Given the description of an element on the screen output the (x, y) to click on. 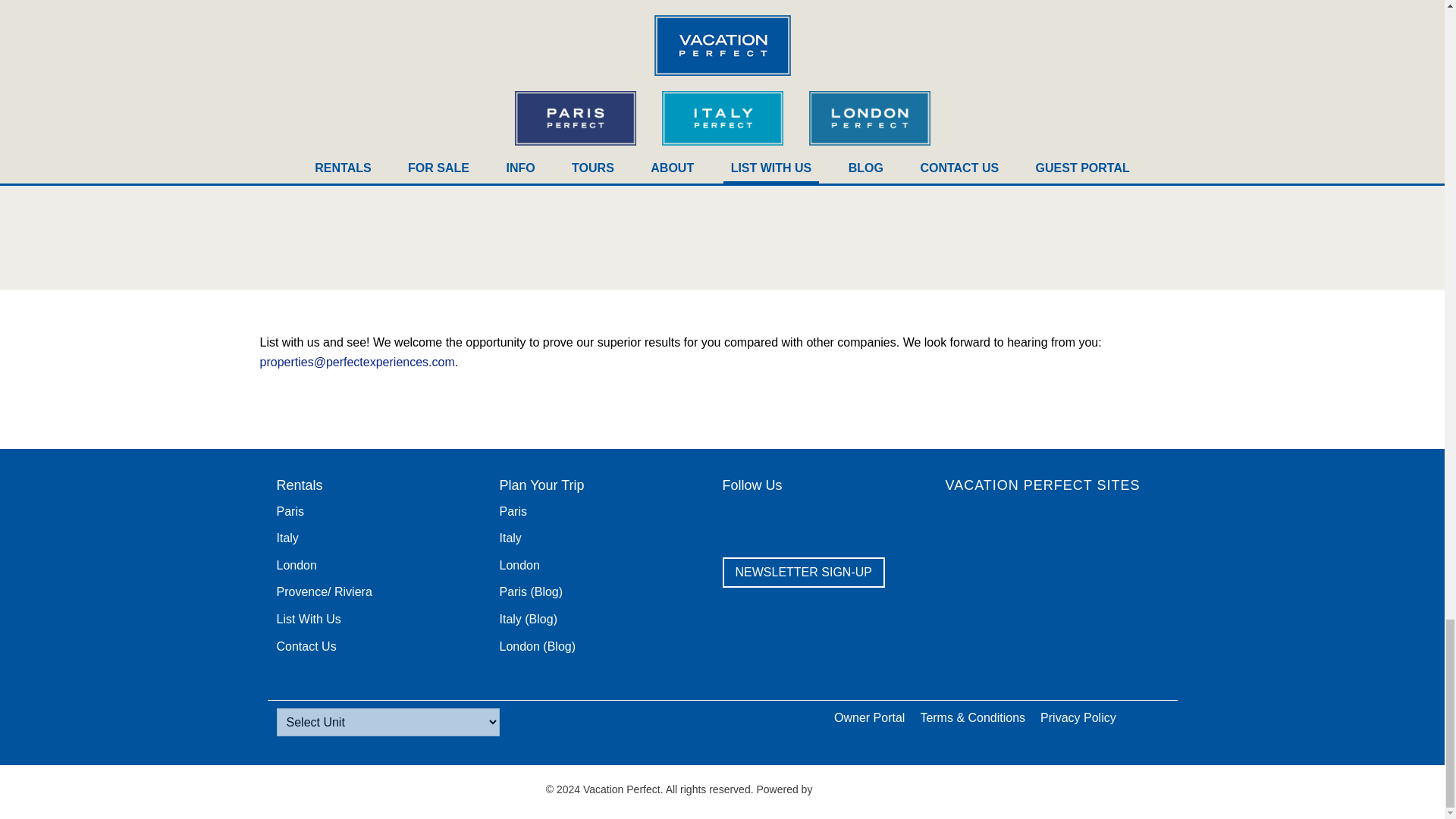
Twitter (777, 518)
Youtube (815, 518)
Pinterest (856, 518)
Facebook (738, 518)
Instagram (894, 518)
